Given the description of an element on the screen output the (x, y) to click on. 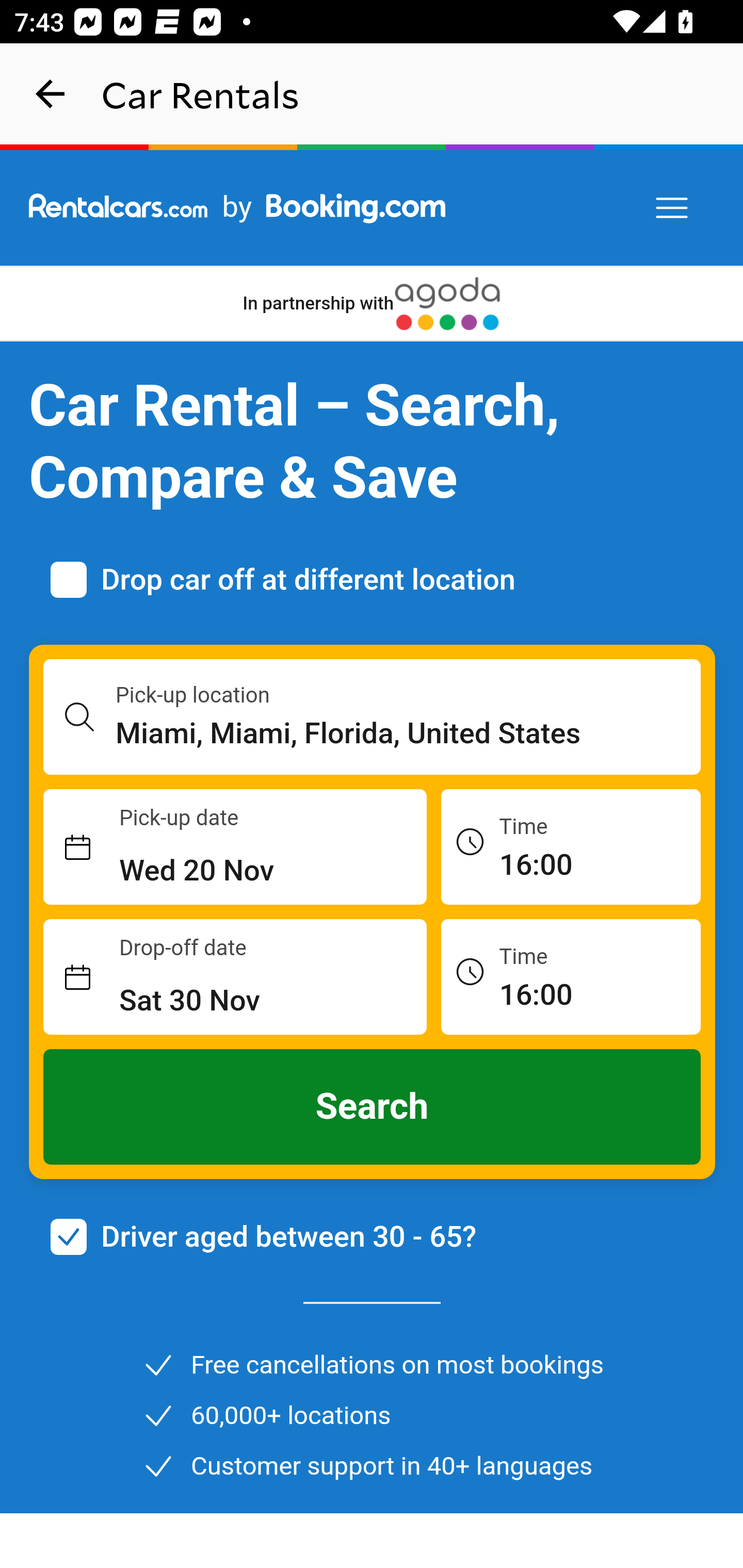
navigation_button (50, 93)
Menu (672, 208)
Miami, Miami, Florida, United States (408, 733)
Pick-up date Wed 20 Nov (235, 847)
16:00 (571, 845)
Drop-off date Sat 30 Nov (235, 977)
16:00 (571, 975)
Search (372, 1106)
